Given the description of an element on the screen output the (x, y) to click on. 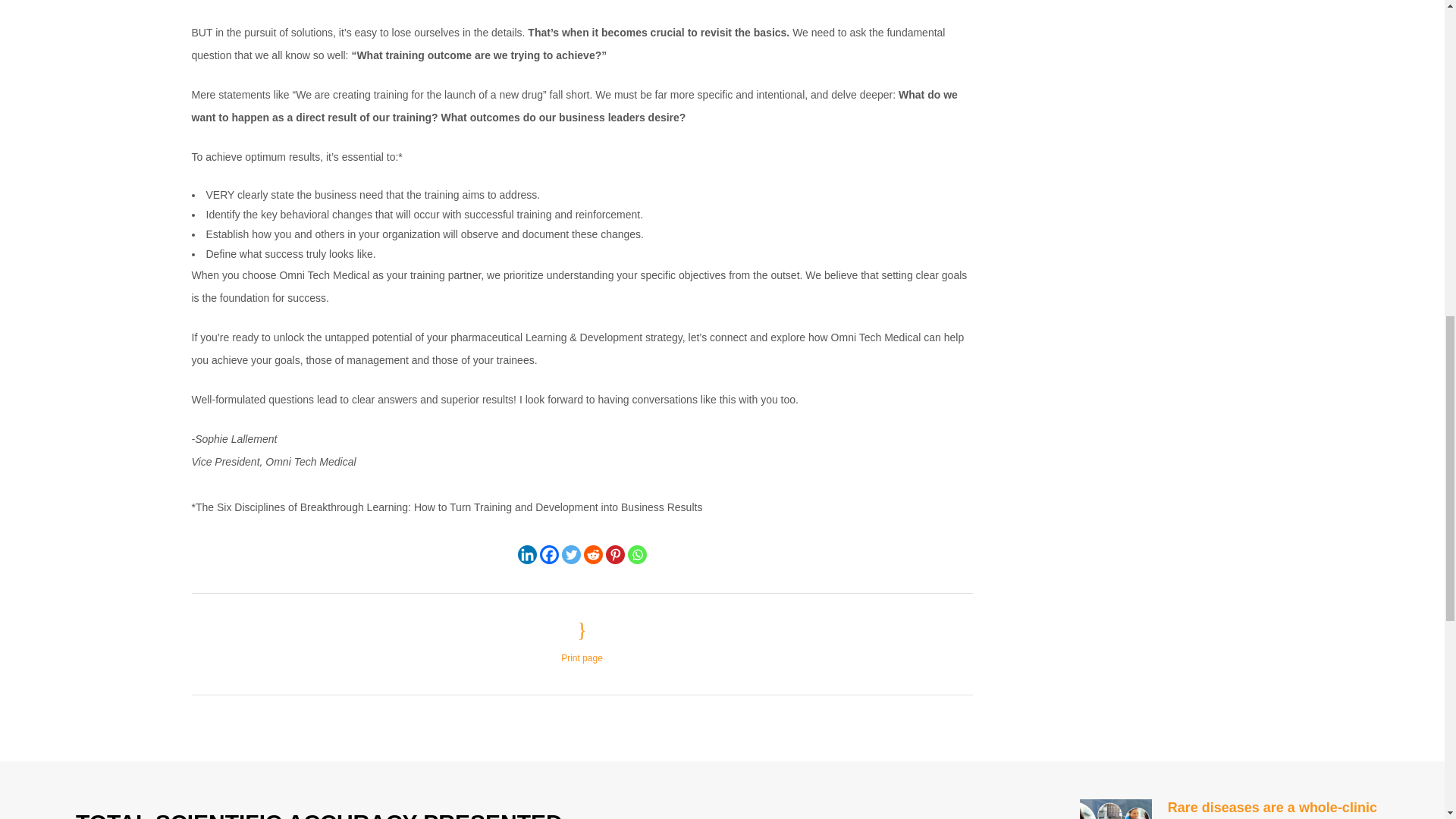
Whatsapp (636, 554)
Print page (581, 641)
Twitter (569, 554)
Pinterest (614, 554)
Linkedin (525, 554)
Facebook (549, 554)
Reddit (592, 554)
